Given the description of an element on the screen output the (x, y) to click on. 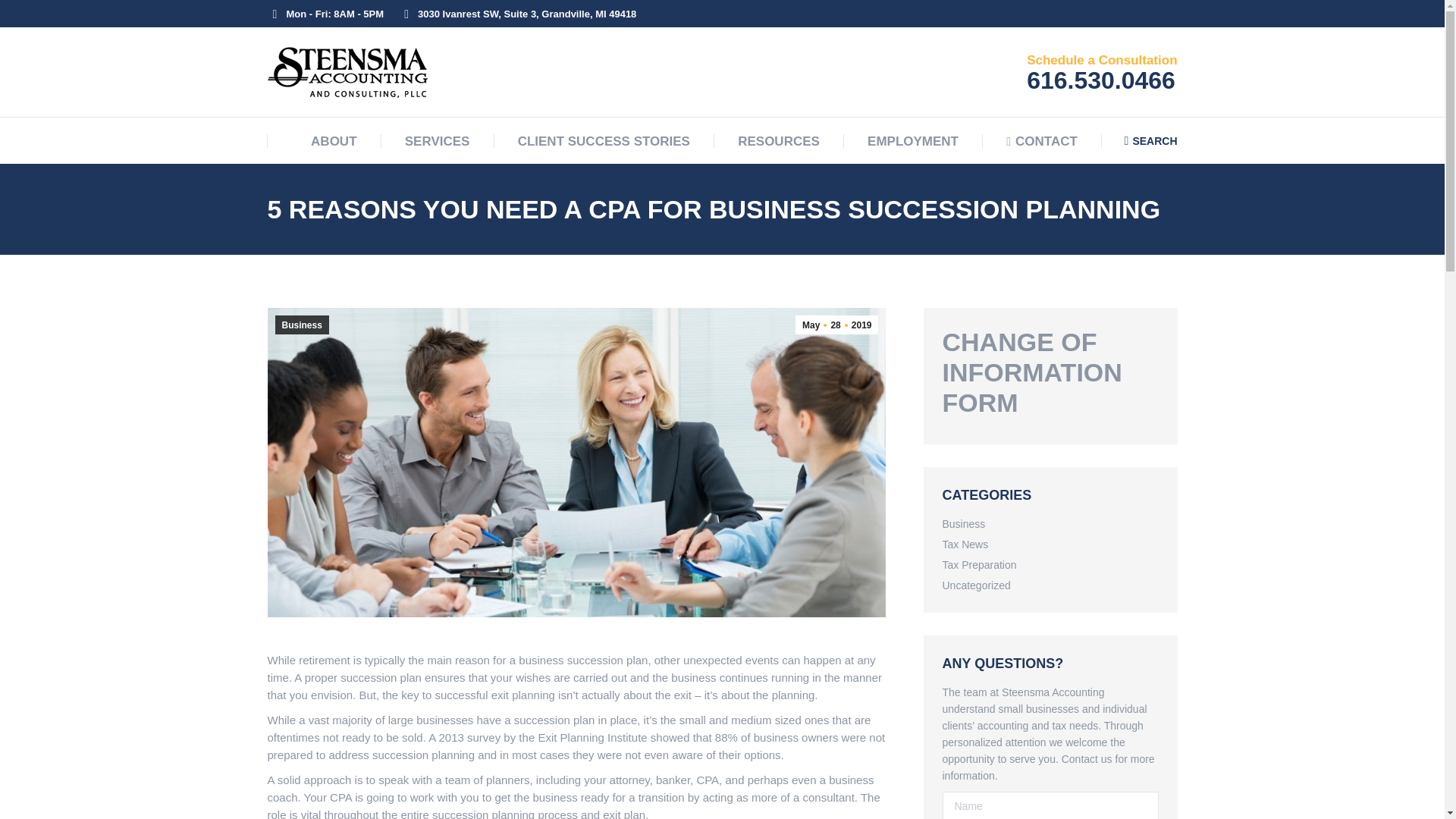
EMPLOYMENT (912, 141)
CLIENT SUCCESS STORIES (604, 141)
1:16 am (835, 324)
ABOUT (835, 324)
CONTACT (323, 141)
RESOURCES (1041, 141)
business-succession-plan (778, 141)
SEARCH (437, 141)
Go! (1150, 140)
Business (24, 15)
